Given the description of an element on the screen output the (x, y) to click on. 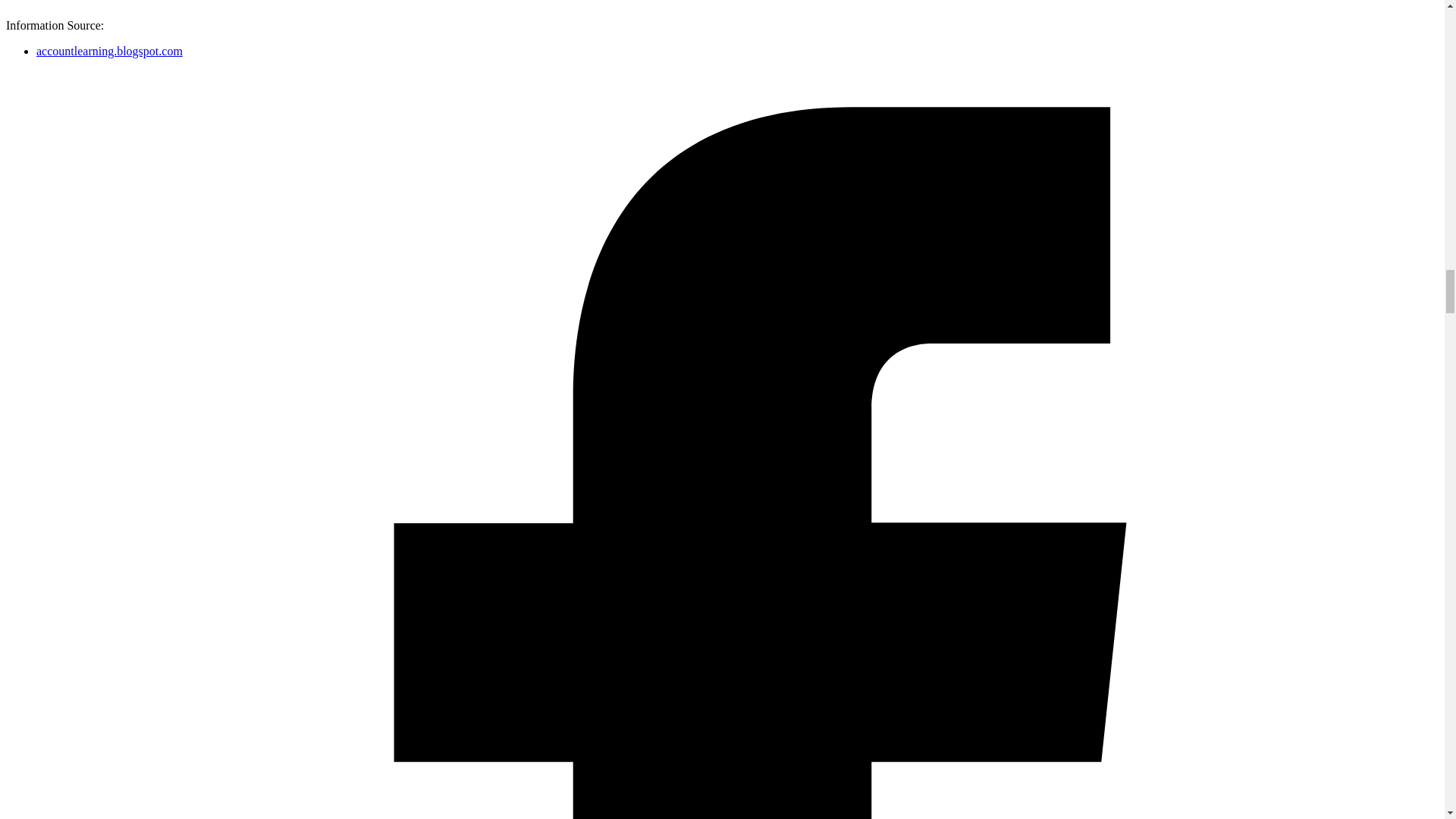
accountlearning.blogspot.com (109, 51)
